Given the description of an element on the screen output the (x, y) to click on. 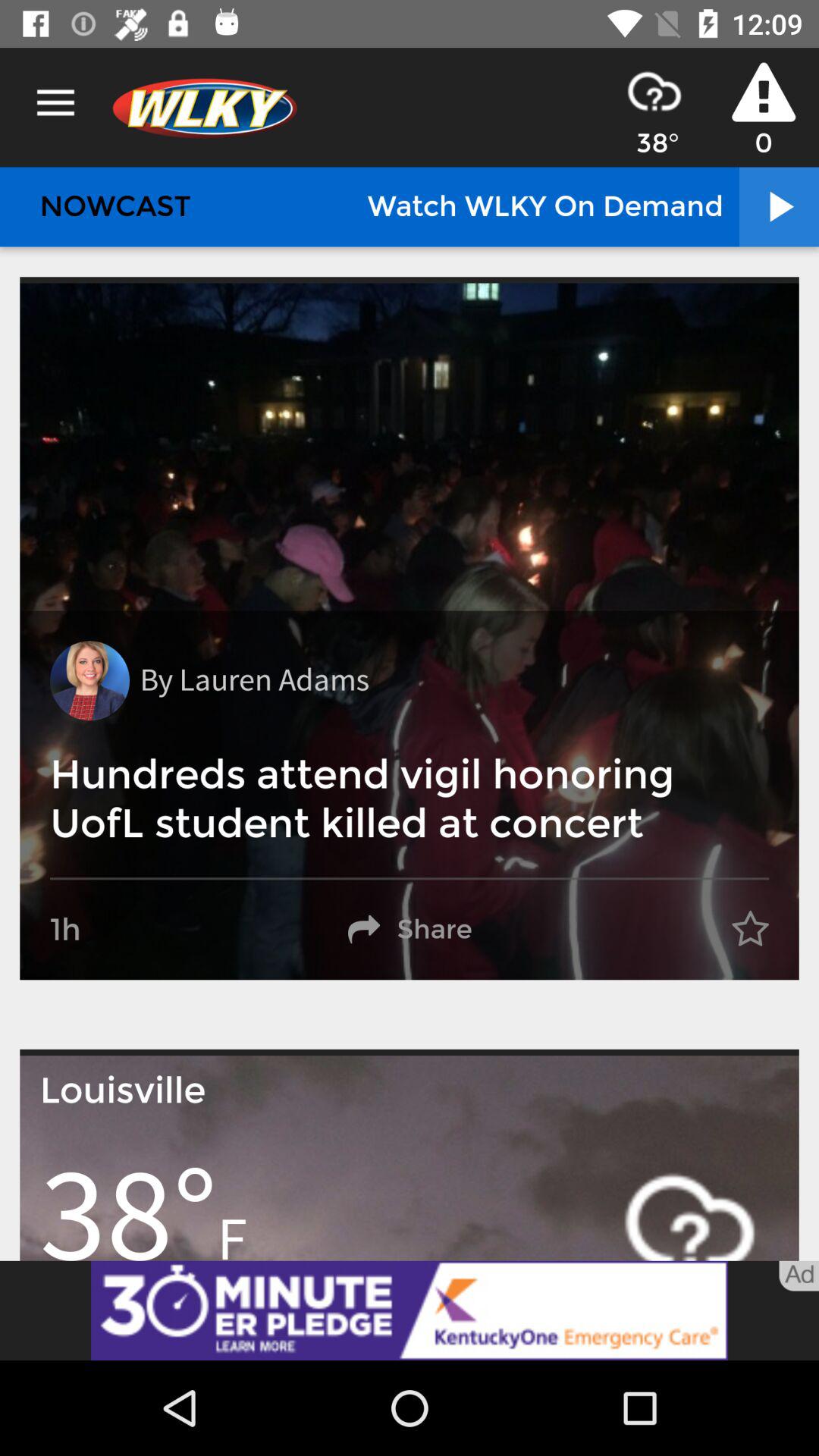
link to advertisement (409, 1310)
